Given the description of an element on the screen output the (x, y) to click on. 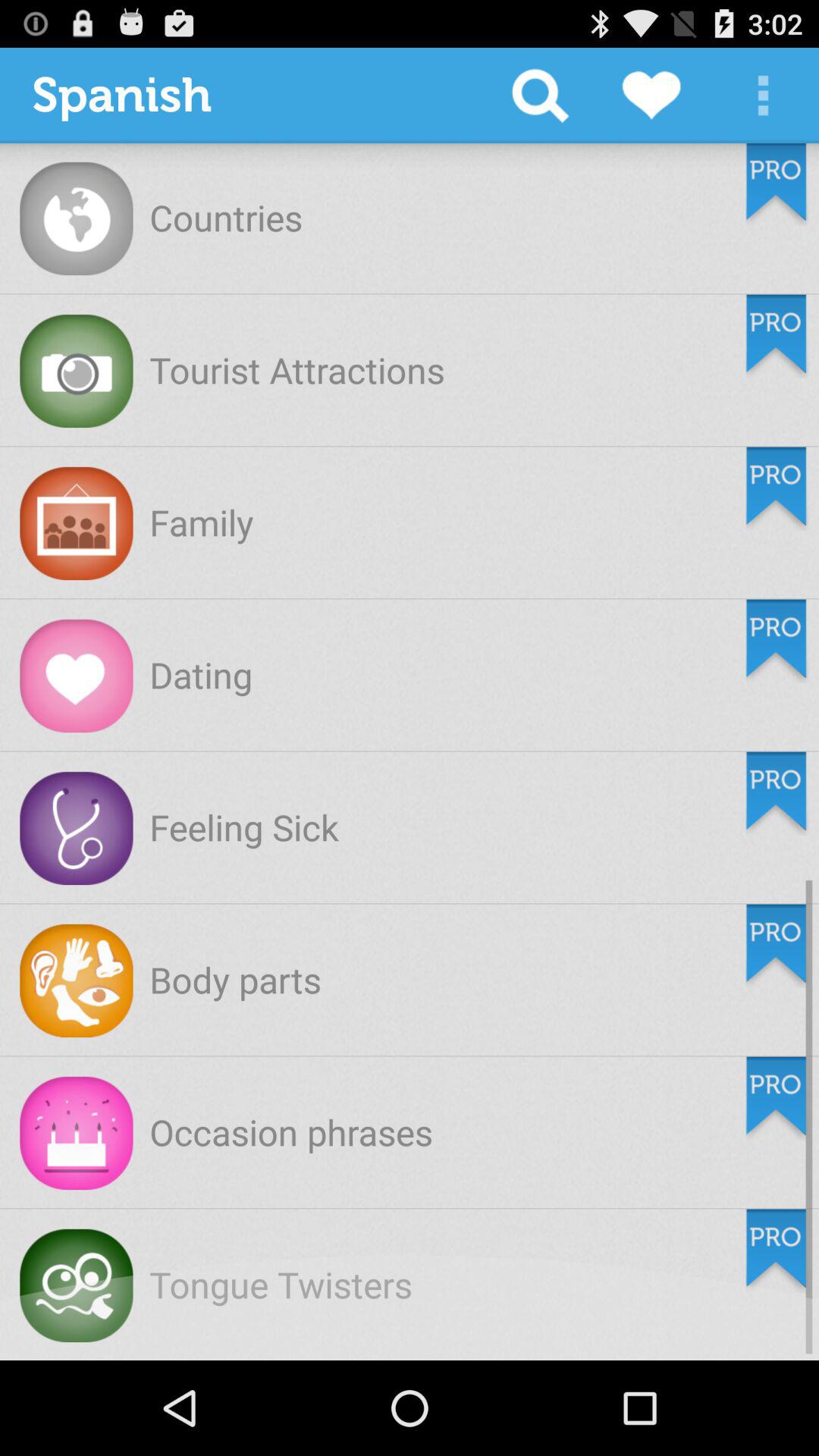
press tongue twisters (280, 1284)
